Given the description of an element on the screen output the (x, y) to click on. 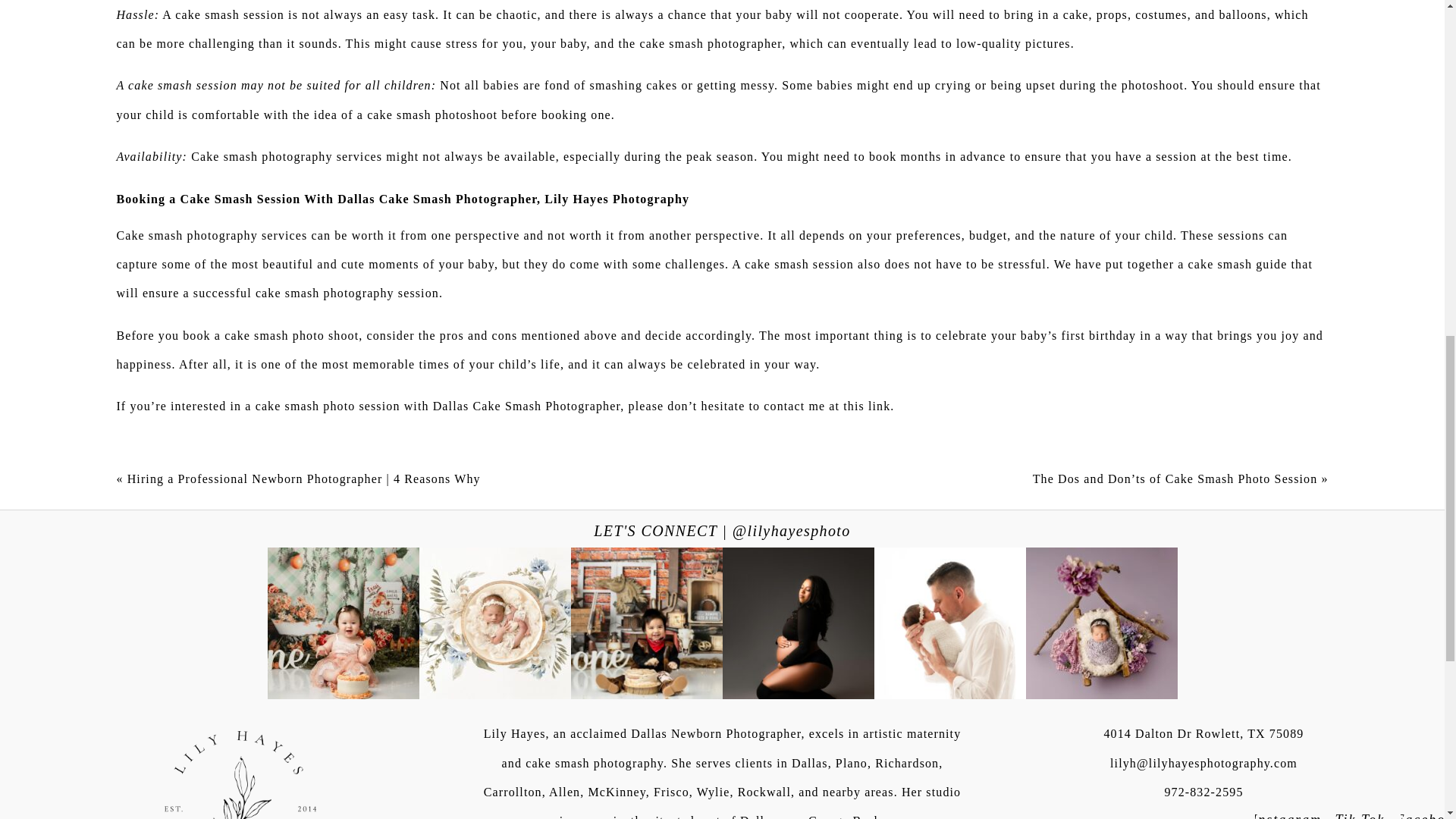
cake smash guide (1237, 264)
